Given the description of an element on the screen output the (x, y) to click on. 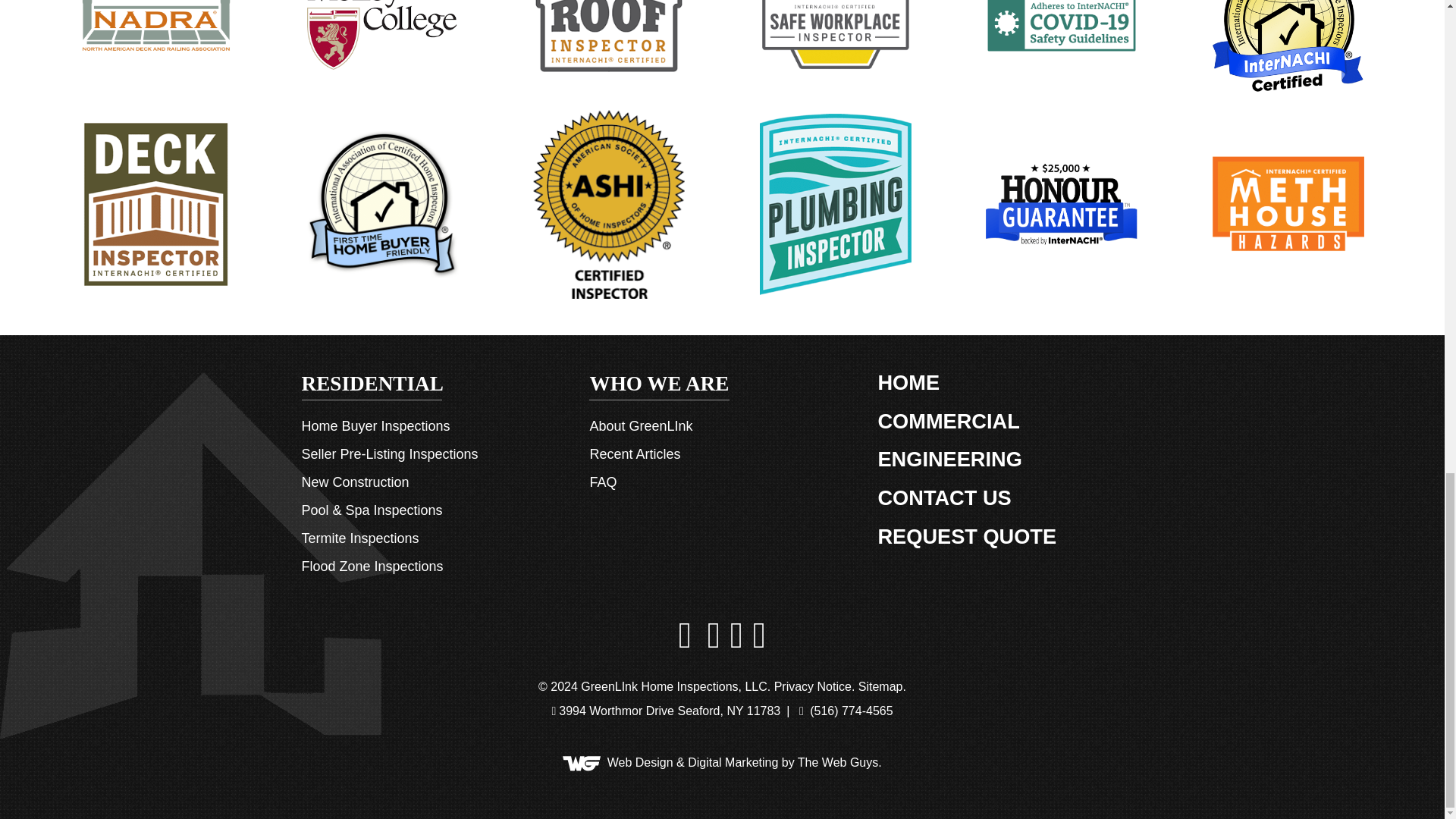
Termite Inspections (360, 538)
About GreenLInk (641, 426)
Seller Pre-Listing Inspections (390, 454)
New Construction (355, 482)
Flood Zone Inspections (372, 566)
Home Buyer Inspections (375, 426)
